Given the description of an element on the screen output the (x, y) to click on. 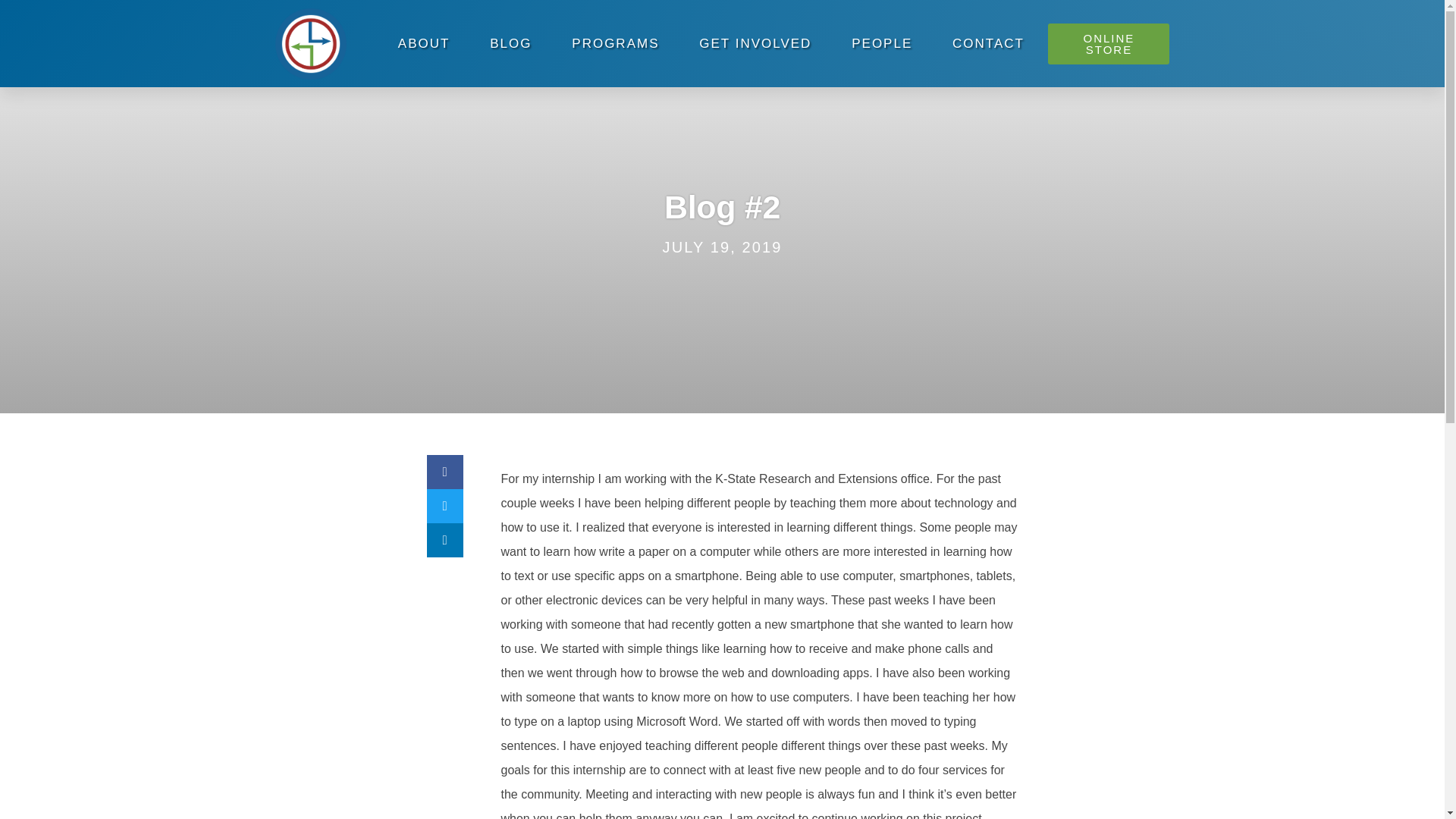
PROGRAMS (615, 43)
GET INVOLVED (755, 43)
ONLINE STORE (1108, 42)
ABOUT (422, 43)
JULY 19, 2019 (722, 247)
CONTACT (989, 43)
PEOPLE (882, 43)
BLOG (510, 43)
